Given the description of an element on the screen output the (x, y) to click on. 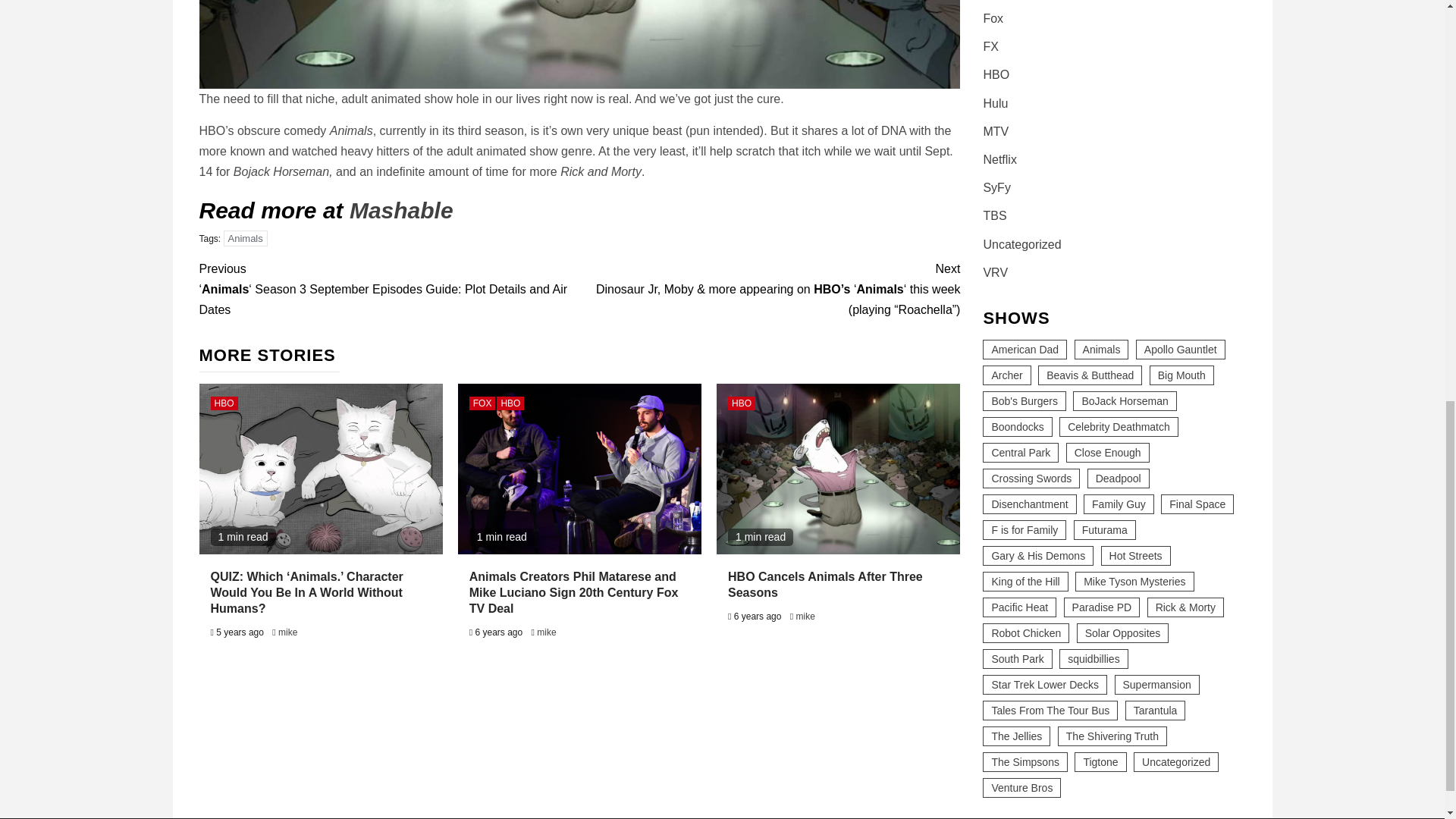
Animals (245, 238)
HBO (224, 403)
Mashable (400, 210)
